Given the description of an element on the screen output the (x, y) to click on. 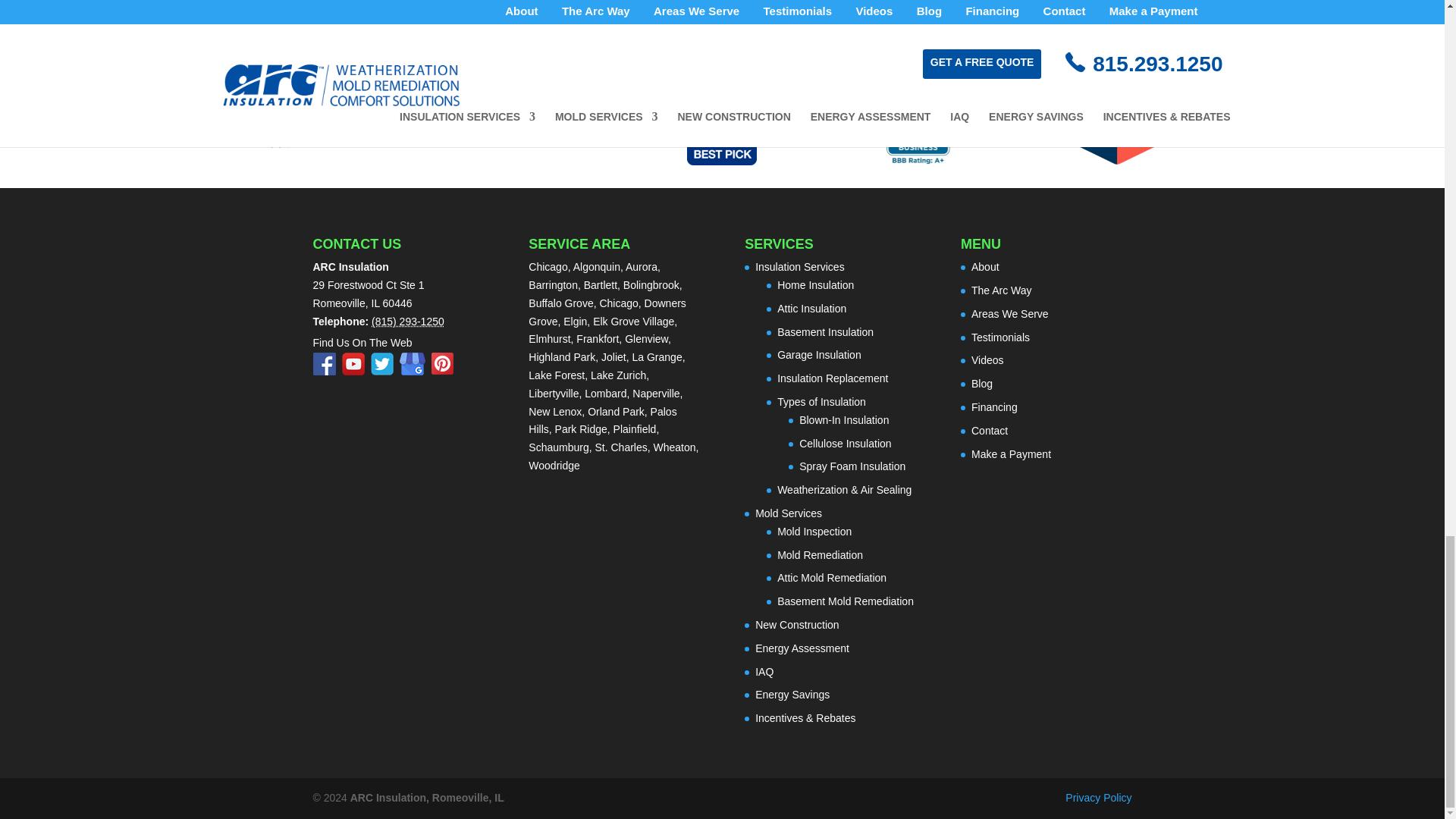
ComEd (526, 108)
Nicor Gas (329, 107)
Angi 2022 (1114, 108)
